Given the description of an element on the screen output the (x, y) to click on. 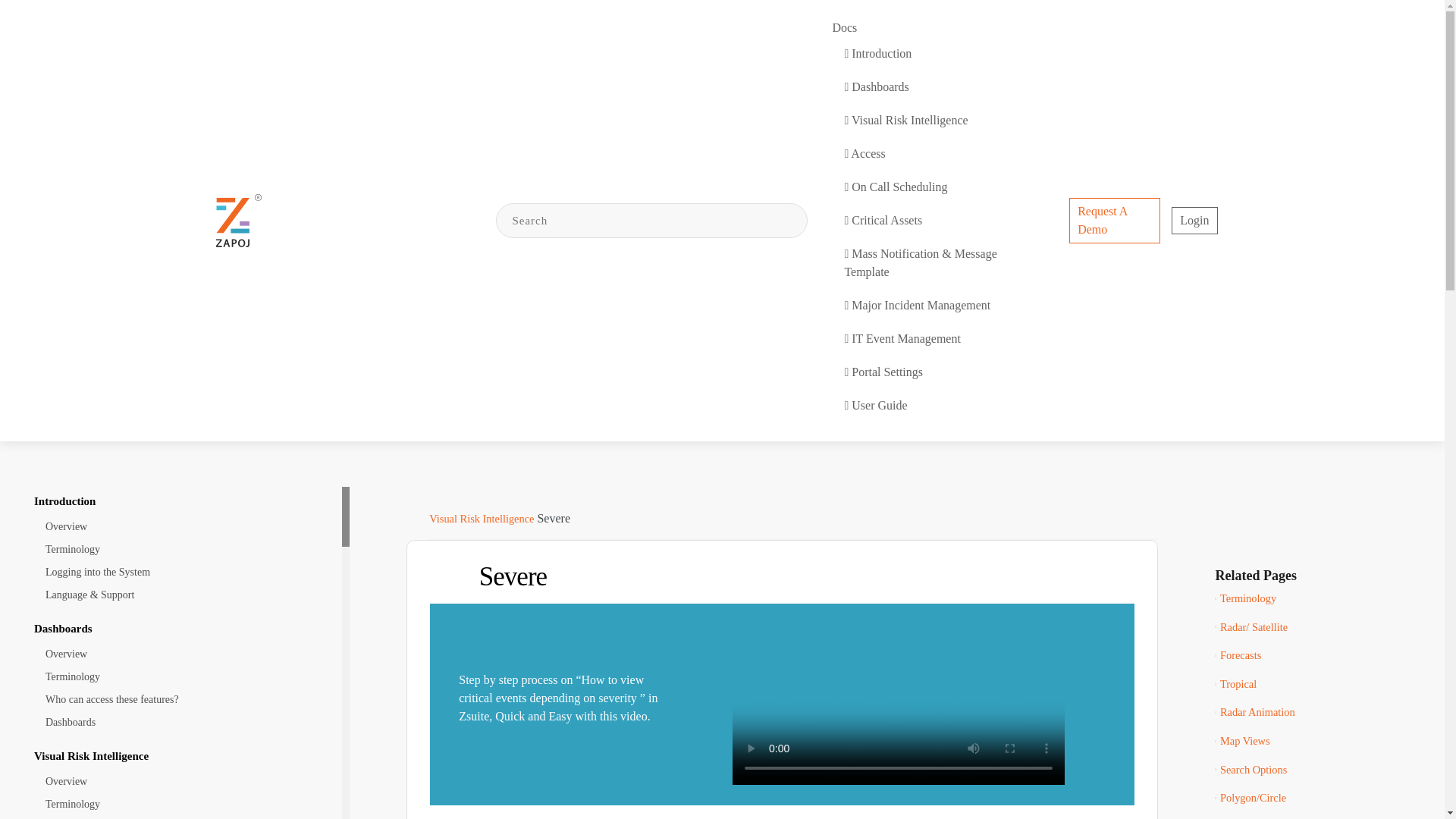
Search Options (1326, 770)
IT Event Management (933, 339)
On Call Scheduling (933, 187)
Terminology (1326, 598)
Visual Risk Intelligence (933, 120)
Portal Settings (933, 372)
Docs (938, 27)
Terminology (176, 549)
Forecasts (1326, 655)
